Given the description of an element on the screen output the (x, y) to click on. 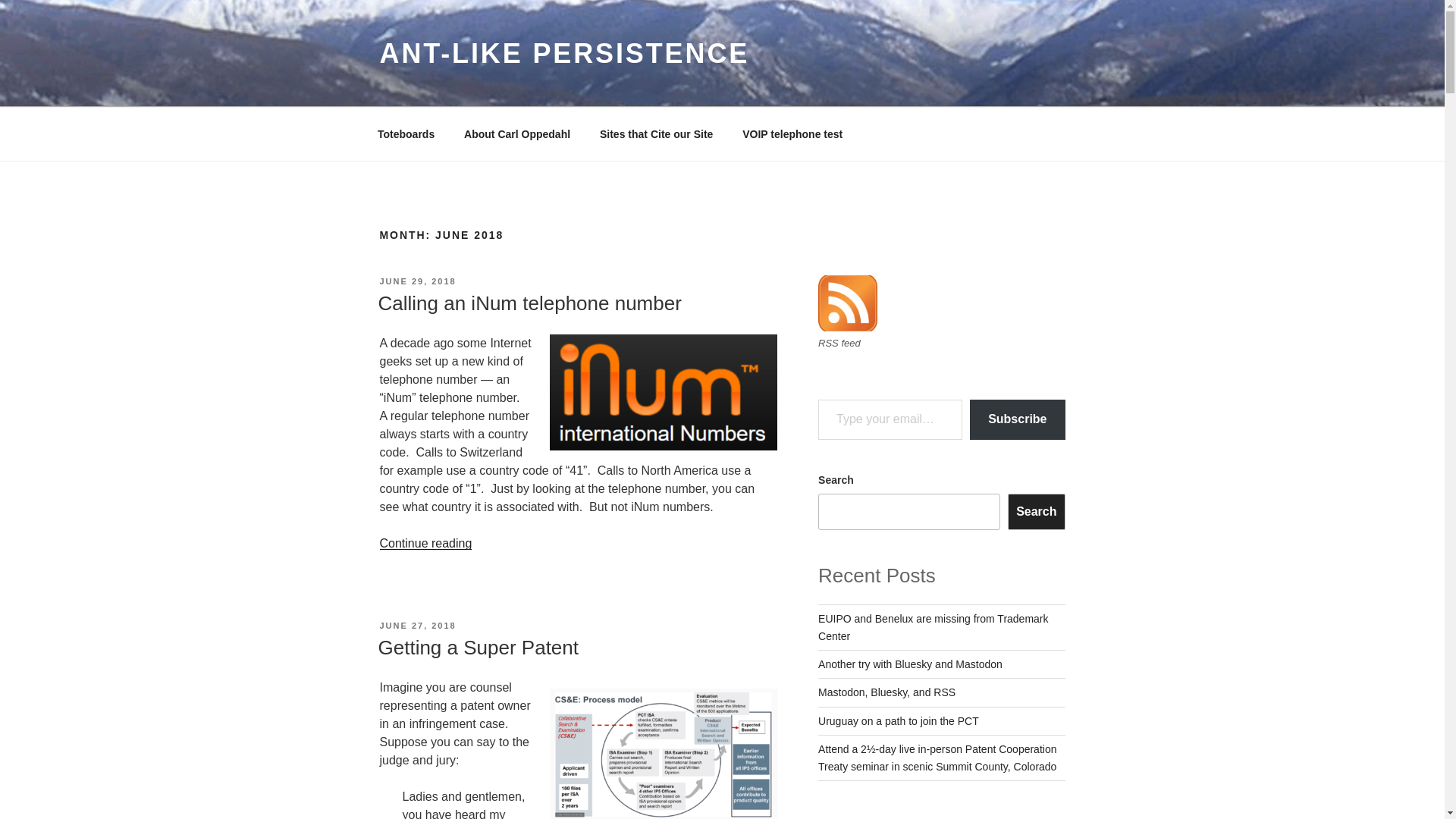
About Carl Oppedahl (517, 133)
ANT-LIKE PERSISTENCE (563, 52)
VOIP telephone test (792, 133)
JUNE 29, 2018 (416, 280)
Please fill in this field. (890, 419)
JUNE 27, 2018 (416, 624)
Calling an iNum telephone number (529, 302)
Toteboards (405, 133)
Sites that Cite our Site (655, 133)
Getting a Super Patent (477, 647)
